Given the description of an element on the screen output the (x, y) to click on. 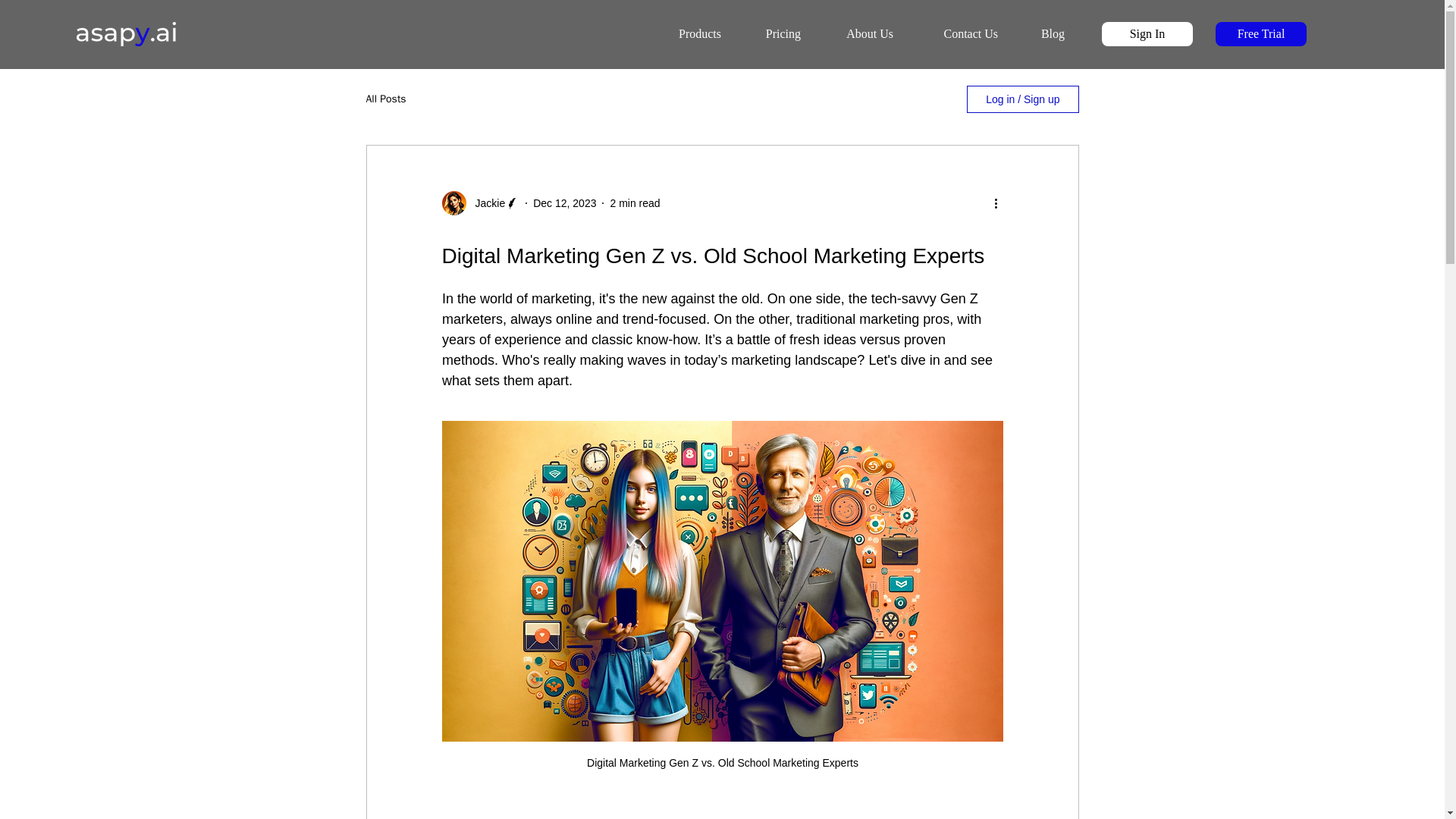
Pricing (769, 34)
Dec 12, 2023 (563, 203)
Contact Us (955, 34)
All Posts (385, 99)
About Us (857, 34)
Jackie (485, 203)
2 min read (634, 203)
Free Trial (1260, 33)
Blog (1040, 34)
Sign In (1147, 33)
